Given the description of an element on the screen output the (x, y) to click on. 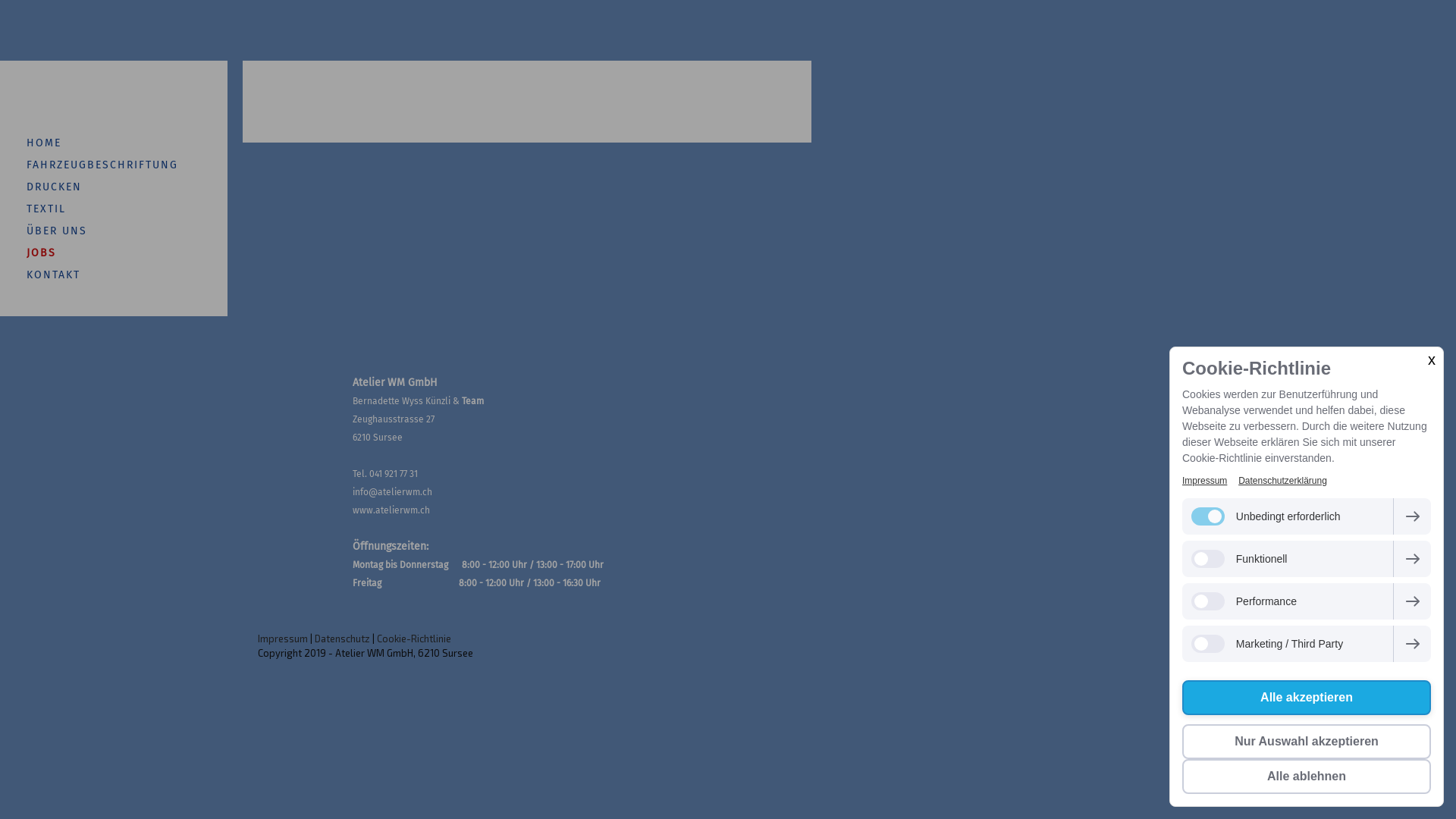
Nur Auswahl akzeptieren Element type: text (1306, 741)
DRUCKEN Element type: text (113, 186)
Cookie-Richtlinie Element type: text (413, 638)
HOME Element type: text (113, 142)
TEXTIL Element type: text (113, 208)
Alle ablehnen Element type: text (1306, 776)
KONTAKT Element type: text (113, 274)
FAHRZEUGBESCHRIFTUNG Element type: text (113, 164)
Datenschutz Element type: text (342, 638)
Impressum Element type: text (282, 638)
Alle akzeptieren Element type: text (1306, 697)
JOBS Element type: text (113, 252)
Impressum Element type: text (1204, 480)
